Given the description of an element on the screen output the (x, y) to click on. 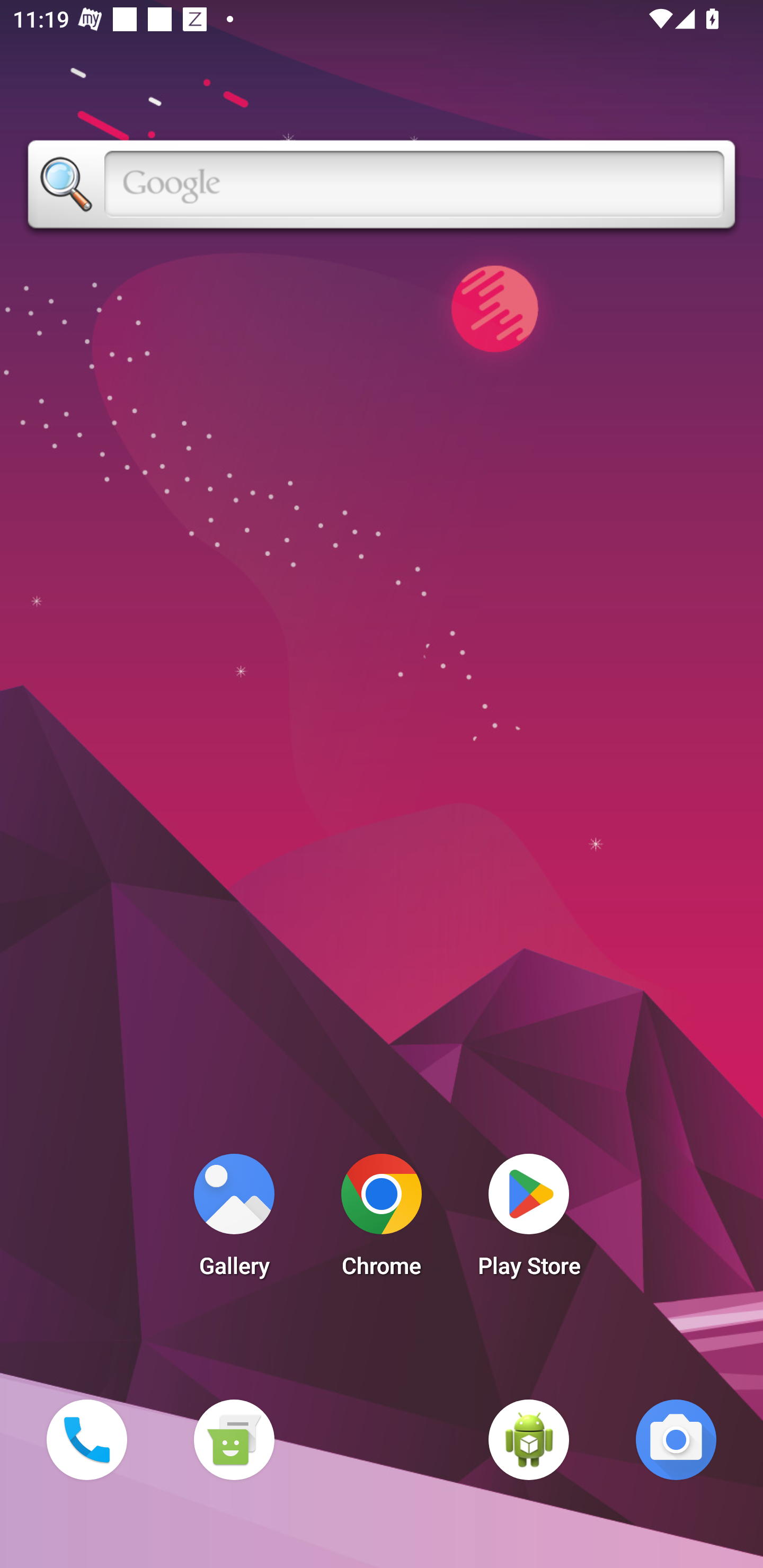
Gallery (233, 1220)
Chrome (381, 1220)
Play Store (528, 1220)
Phone (86, 1439)
Messaging (233, 1439)
WebView Browser Tester (528, 1439)
Camera (676, 1439)
